Given the description of an element on the screen output the (x, y) to click on. 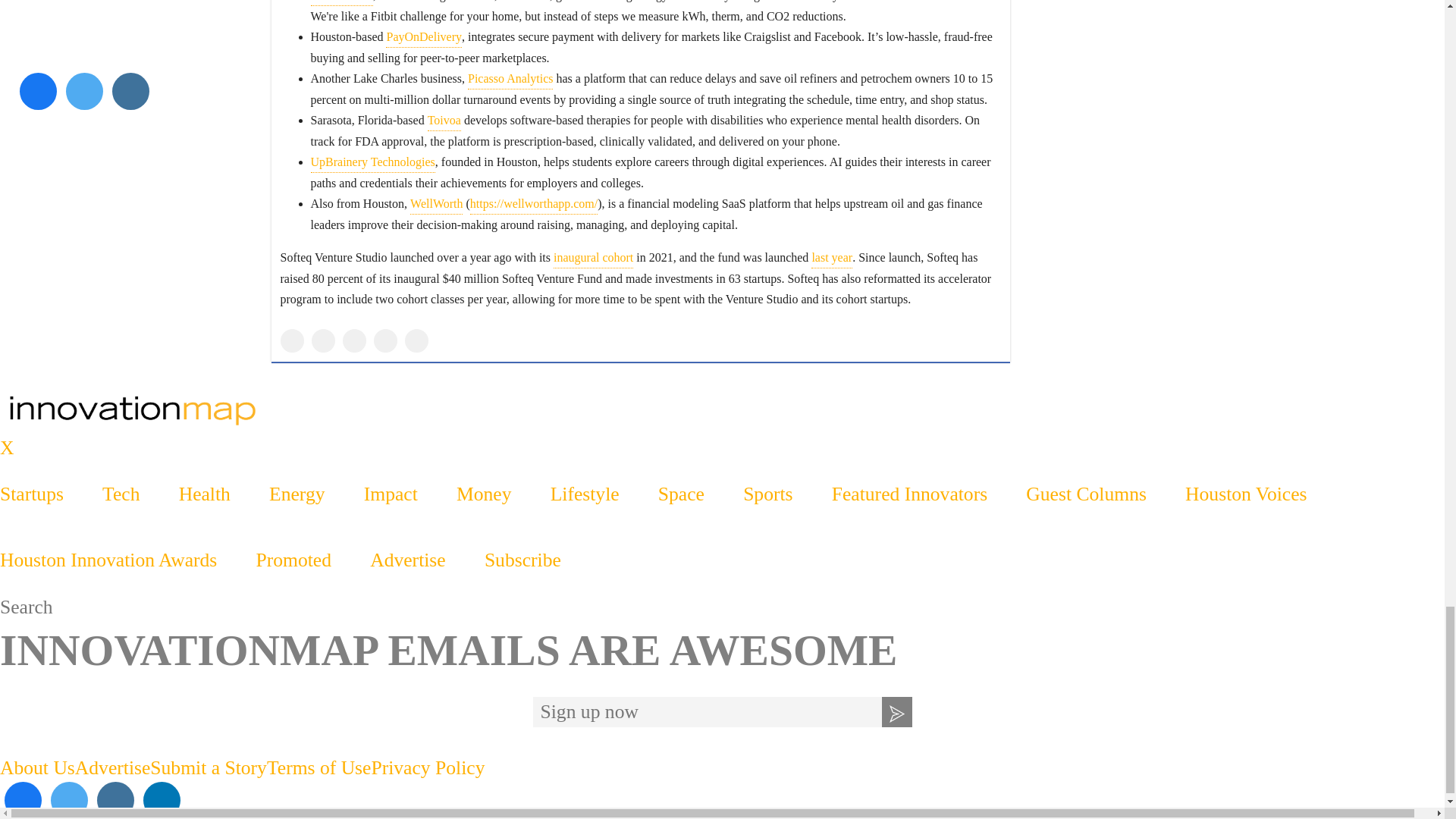
SportsMap Houston (722, 410)
PayOnDelivery (423, 36)
MeterLeader (342, 2)
